Given the description of an element on the screen output the (x, y) to click on. 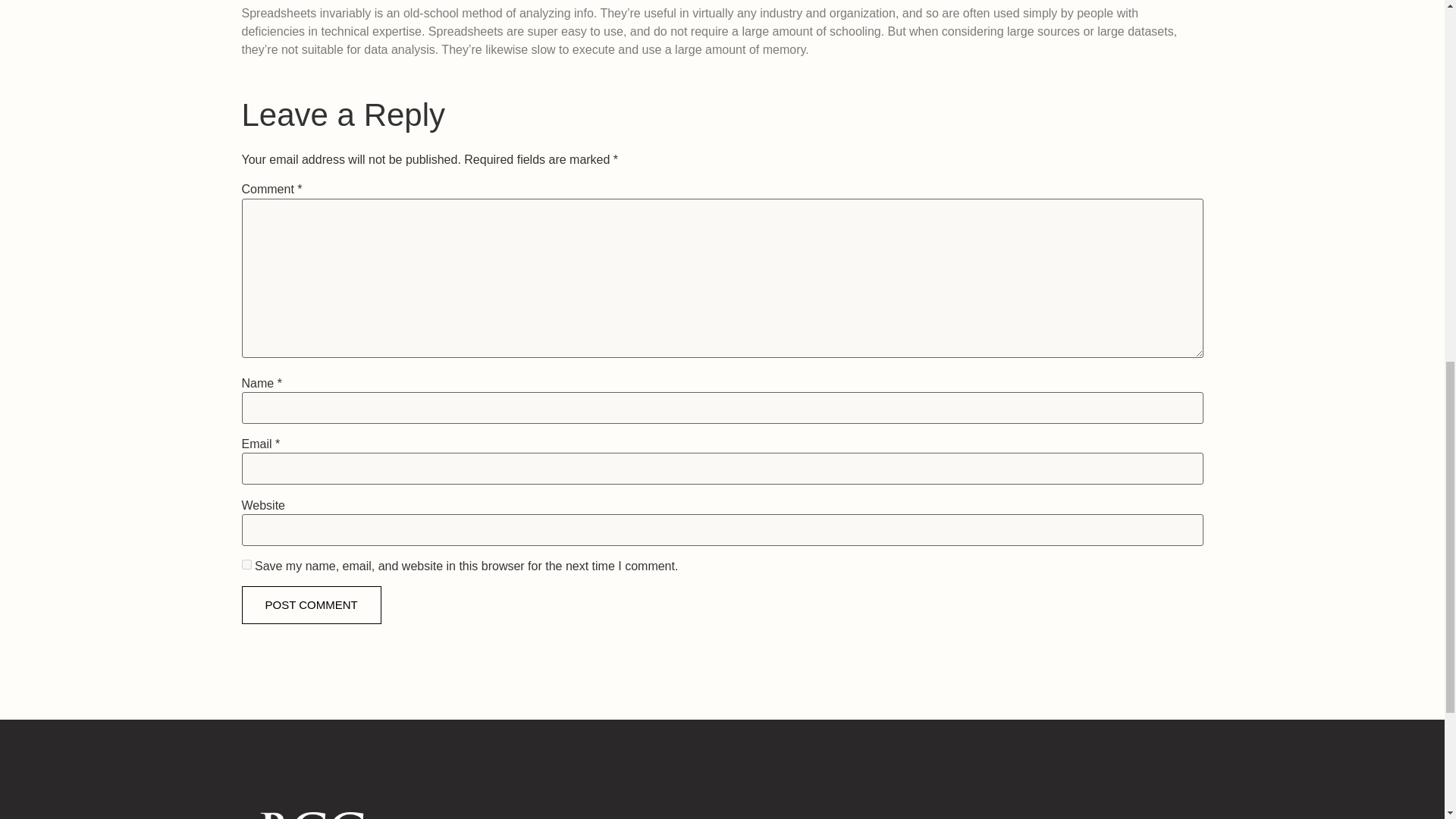
Post Comment (310, 605)
Post Comment (310, 605)
yes (245, 564)
